Given the description of an element on the screen output the (x, y) to click on. 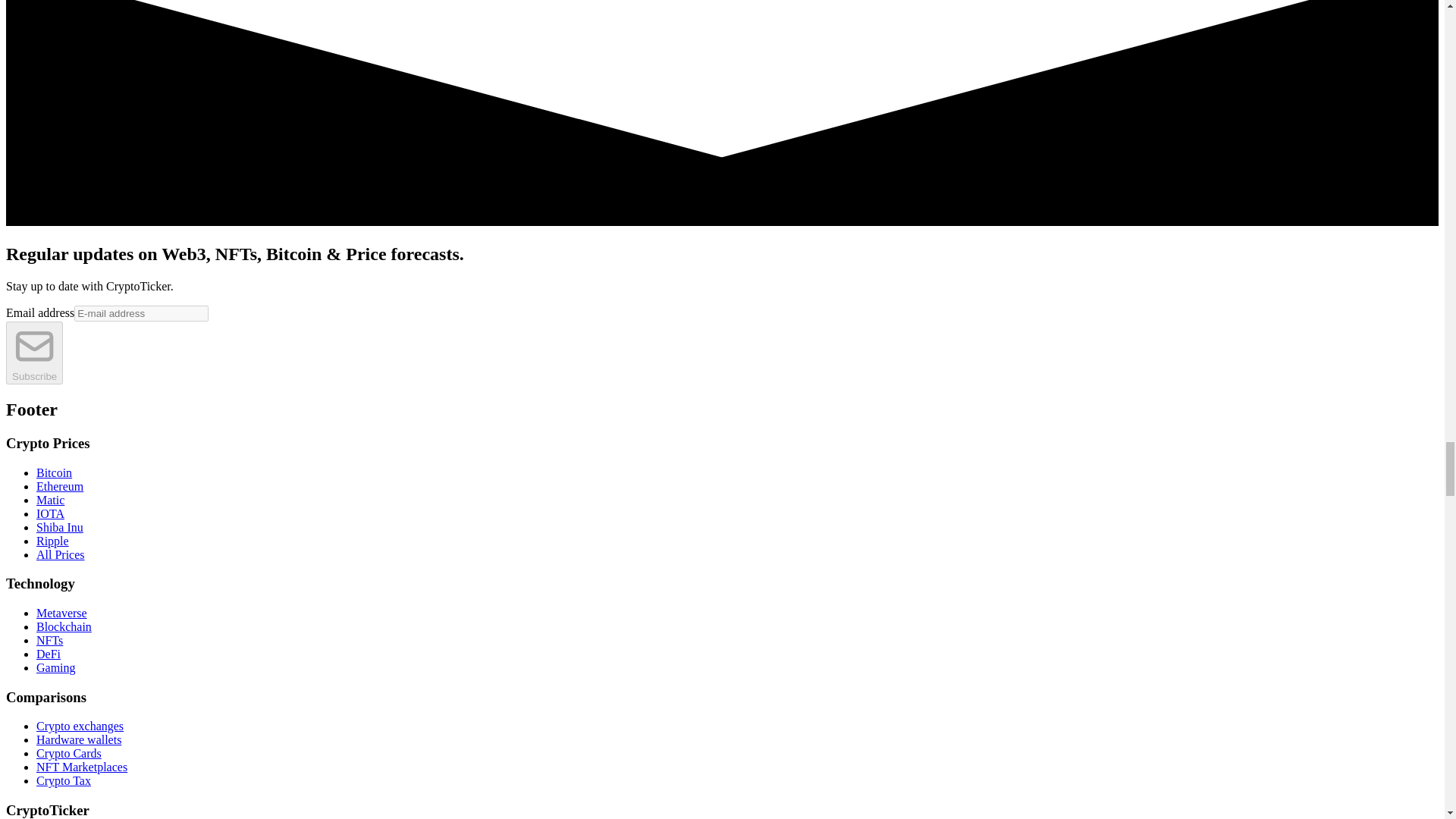
Bitcoin (53, 472)
Matic (50, 499)
Ripple (52, 540)
Shiba Inu (59, 526)
Ethereum (59, 485)
Subscribe (33, 352)
IOTA (50, 512)
All Prices (60, 553)
